Given the description of an element on the screen output the (x, y) to click on. 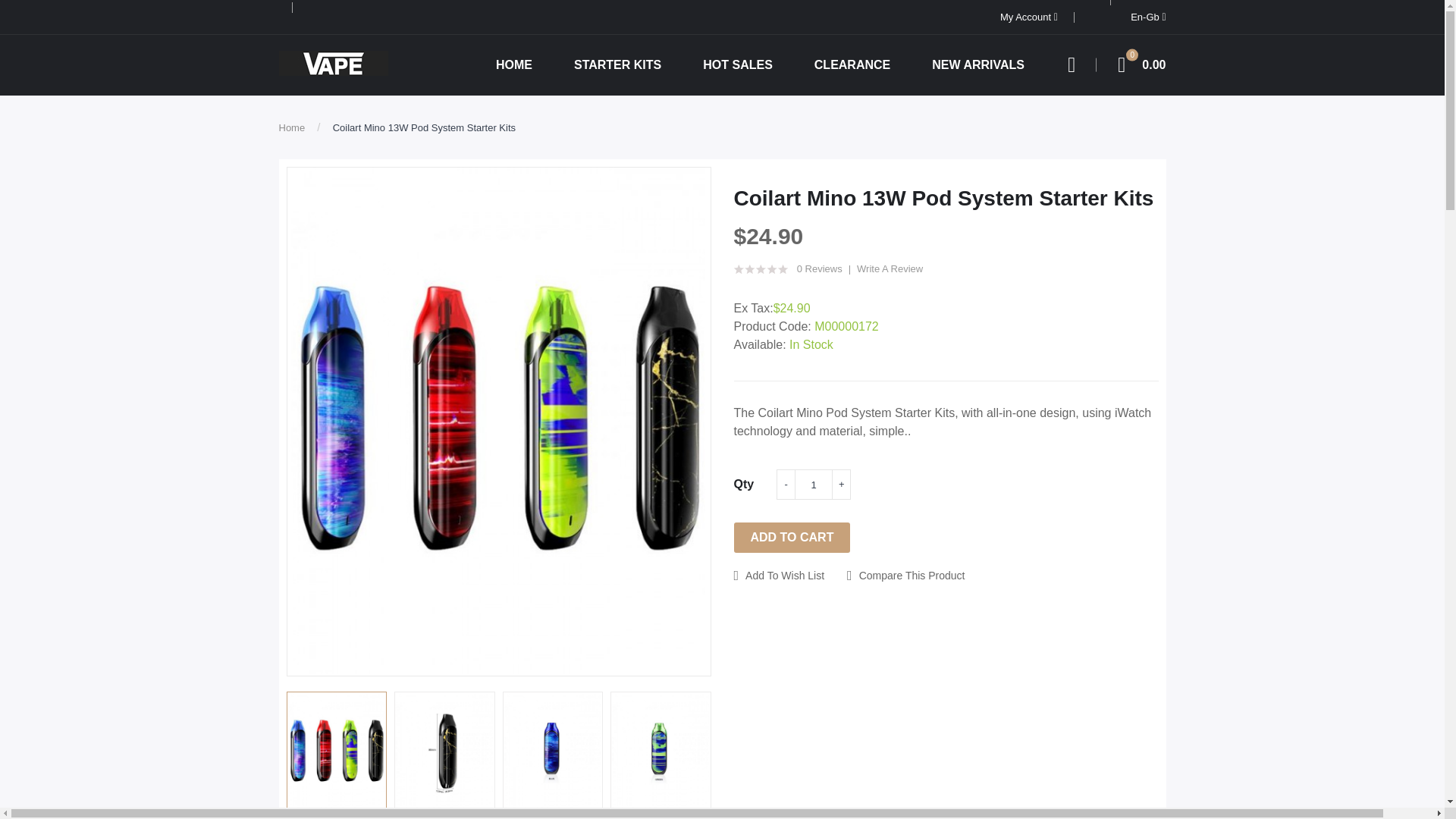
NEW ARRIVALS (977, 65)
Home (292, 127)
En-Gb (1148, 17)
1 (813, 484)
vapesoup (333, 63)
CLEARANCE (1136, 65)
My Account (852, 65)
Coilart Mino 13W Pod System Starter Kits (1029, 17)
STARTER KITS (424, 127)
